Given the description of an element on the screen output the (x, y) to click on. 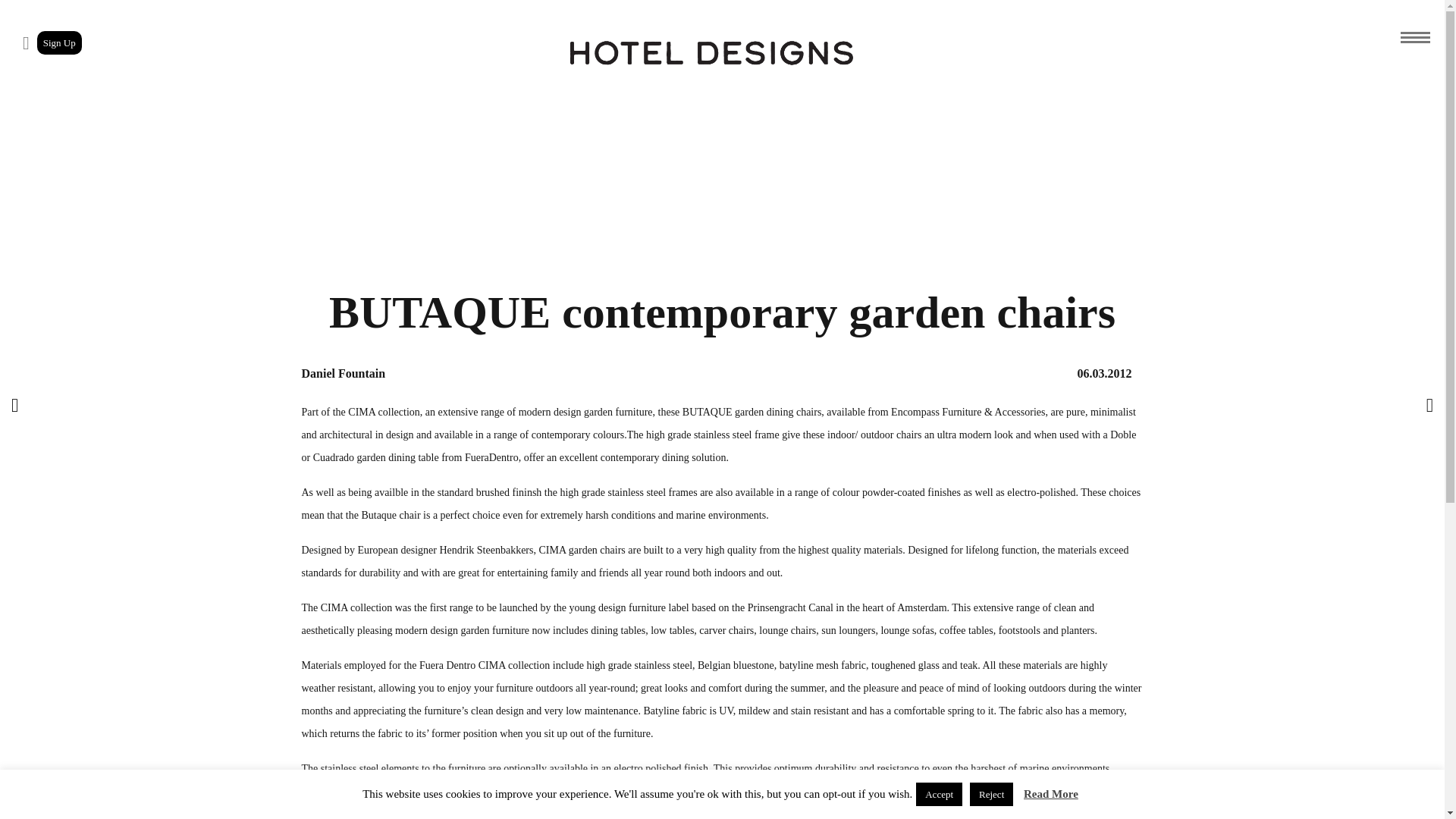
BUTAQUE contemporary garden chairs (1062, 807)
BUTAQUE contemporary garden chairs (983, 807)
BUTAQUE contemporary garden chairs (1010, 805)
Hotel Designs (711, 52)
Sign Up (59, 42)
BUTAQUE contemporary garden chairs (1036, 807)
